Given the description of an element on the screen output the (x, y) to click on. 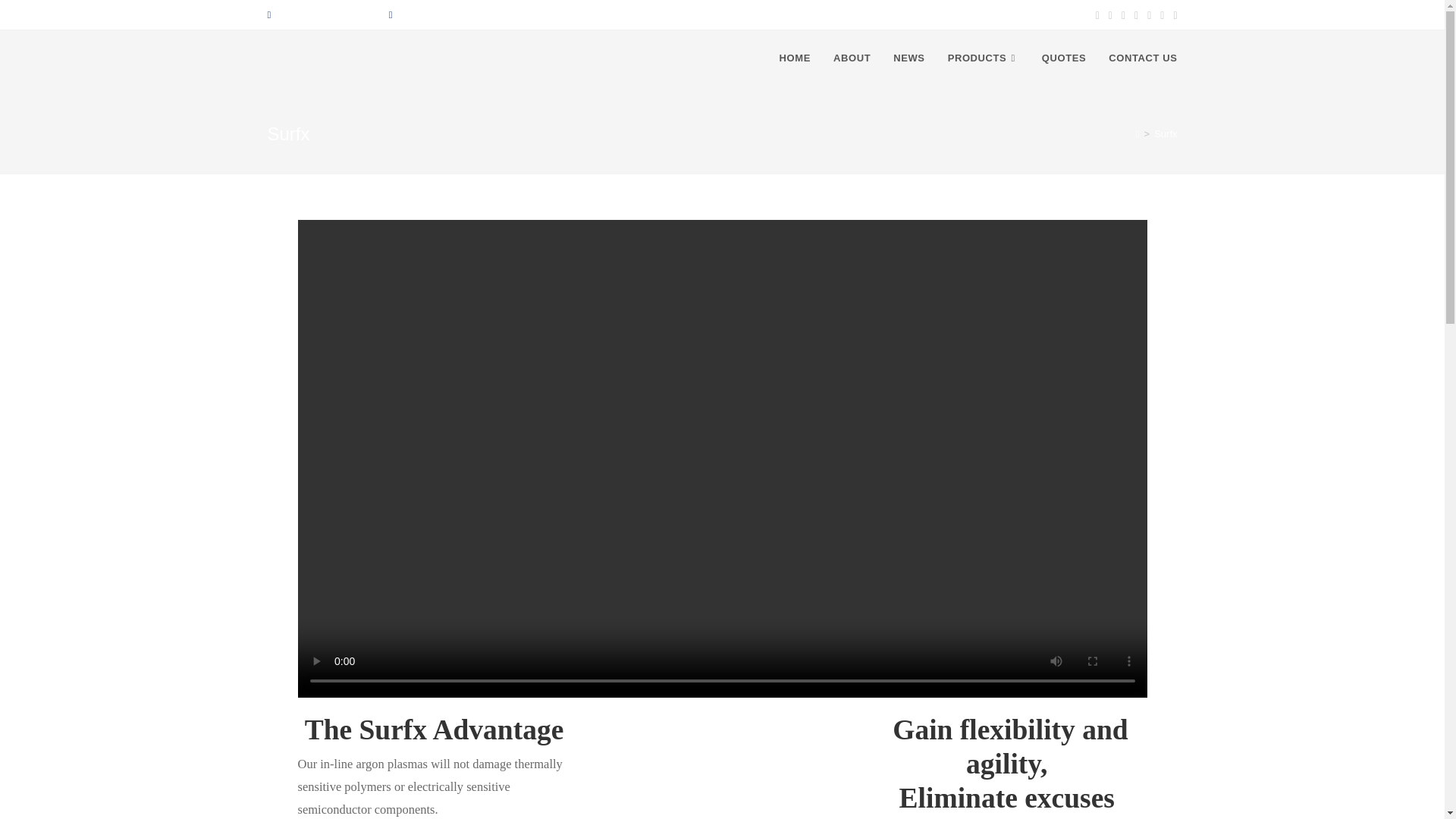
Surfx (1165, 133)
PRODUCTS (983, 58)
ABOUT (852, 58)
CONTACT US (1142, 58)
ABOUT (852, 58)
NEWS (909, 58)
HOME (795, 58)
PRODUCTS (983, 58)
QUOTES (1063, 58)
NEWS (909, 58)
